Given the description of an element on the screen output the (x, y) to click on. 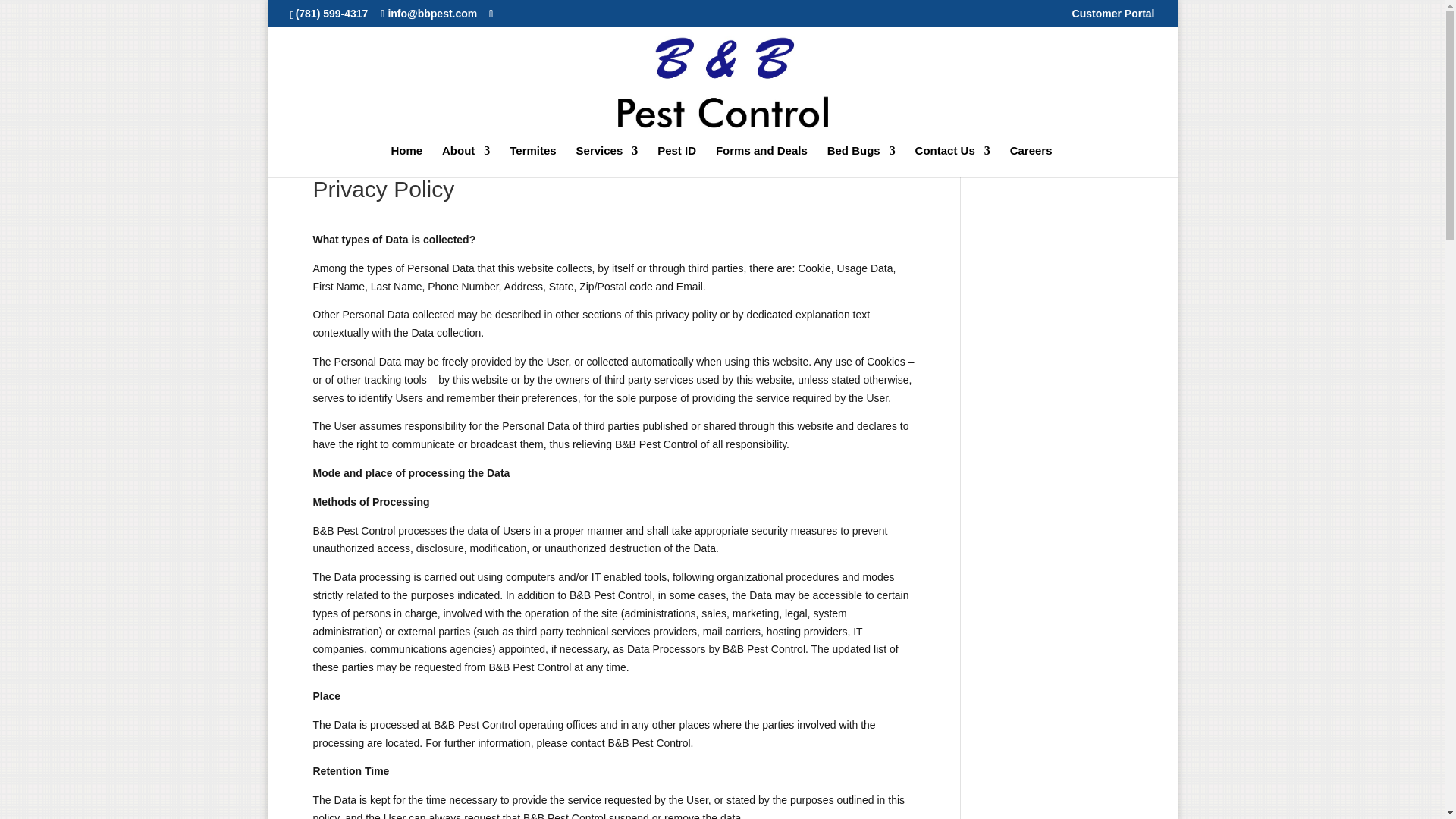
Services (607, 161)
Termites (532, 161)
Forms and Deals (762, 161)
Contact Us (952, 161)
Home (406, 161)
About (465, 161)
Pest ID (676, 161)
Bed Bugs (861, 161)
Customer Portal (1112, 16)
